Given the description of an element on the screen output the (x, y) to click on. 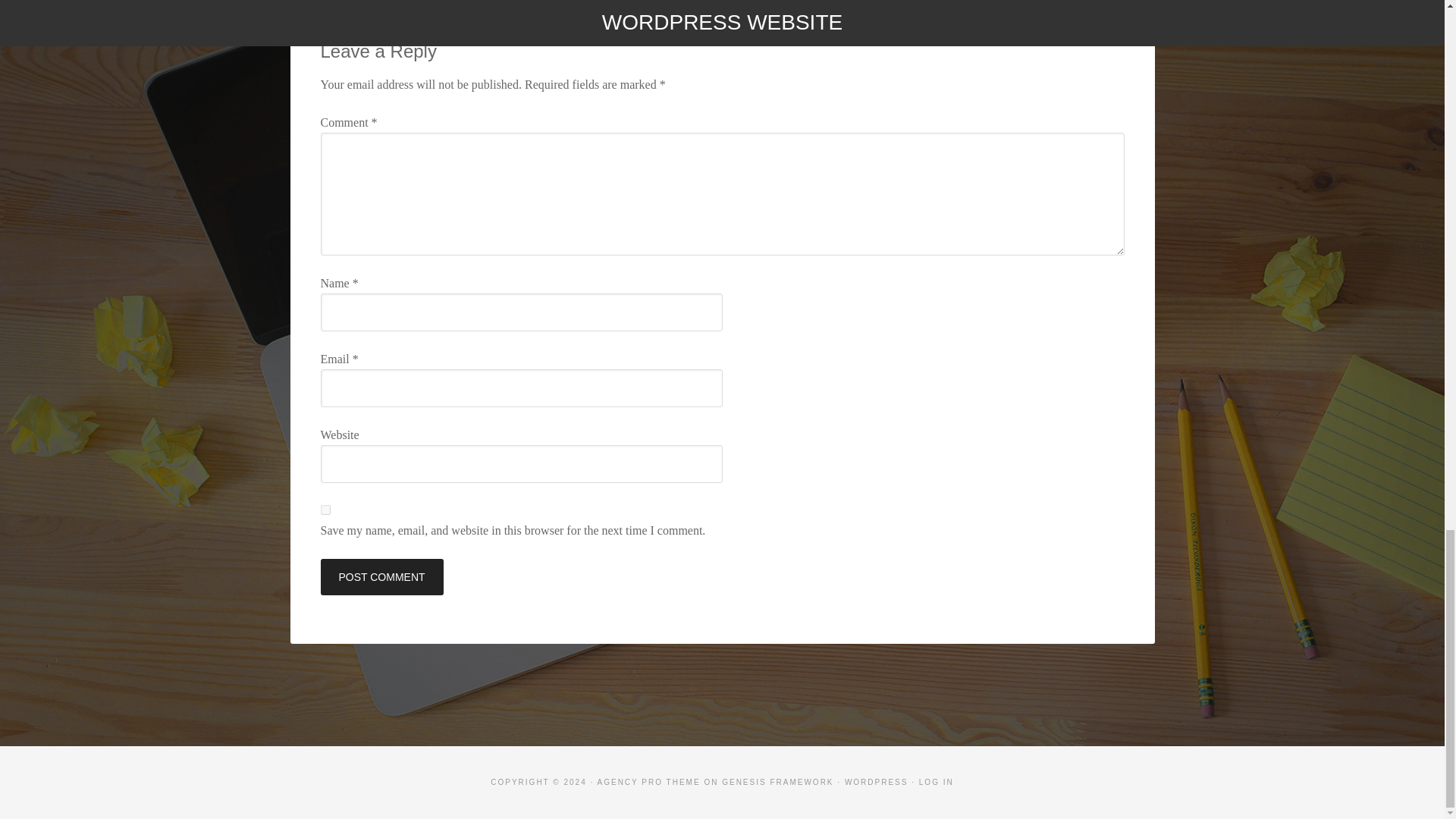
Post Comment (381, 576)
AGENCY PRO THEME (648, 782)
Post Comment (381, 576)
LOG IN (935, 782)
yes (325, 510)
WORDPRESS (876, 782)
GENESIS FRAMEWORK (777, 782)
